Given the description of an element on the screen output the (x, y) to click on. 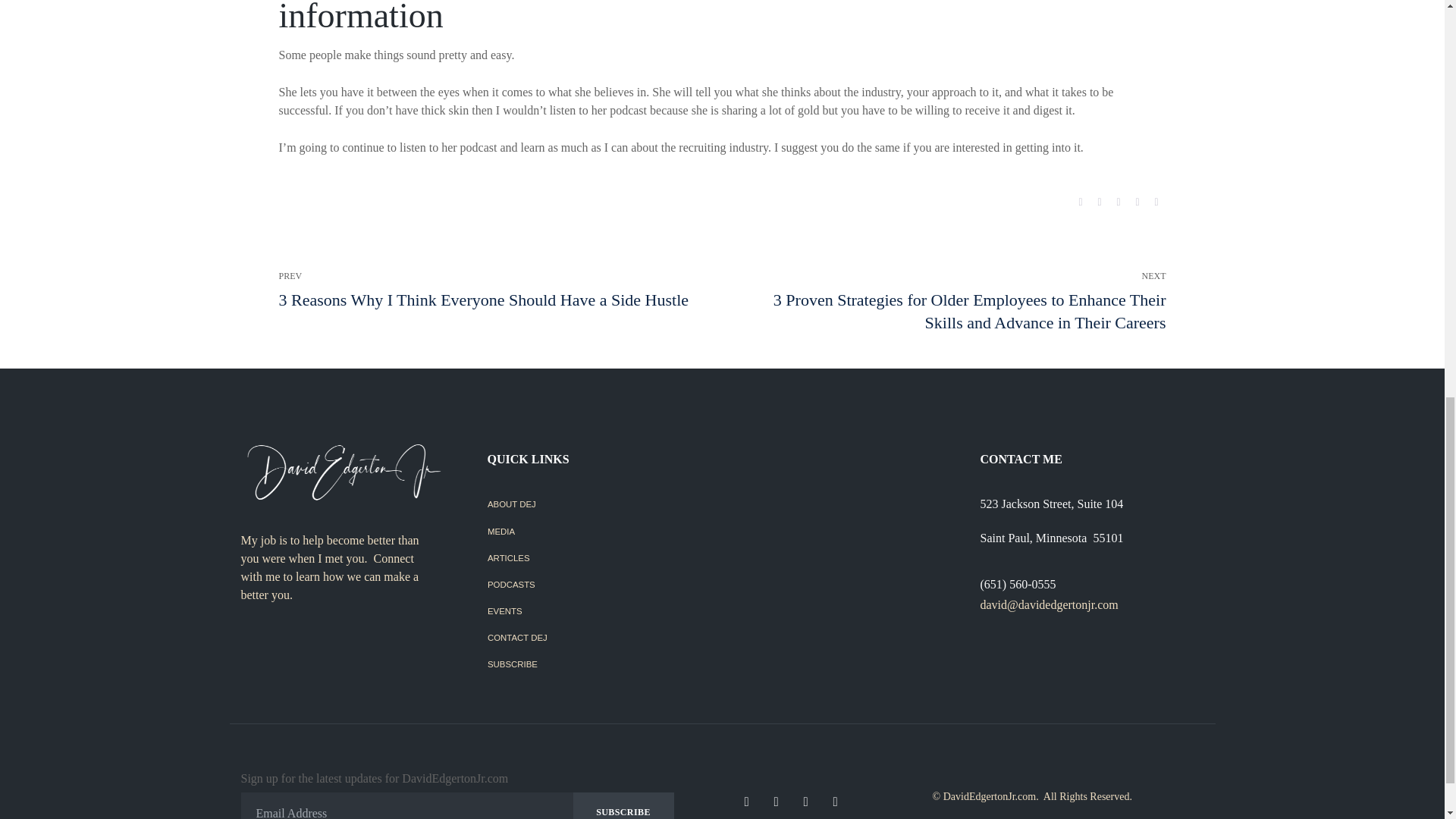
EVENTS (598, 612)
MEDIA (598, 532)
CONTACT DEJ (598, 638)
ABOUT DEJ (598, 505)
PREV (483, 290)
SUBSCRIBE (598, 665)
Subscribe (623, 805)
ARTICLES (598, 559)
PODCASTS (598, 585)
Subscribe (623, 805)
